Given the description of an element on the screen output the (x, y) to click on. 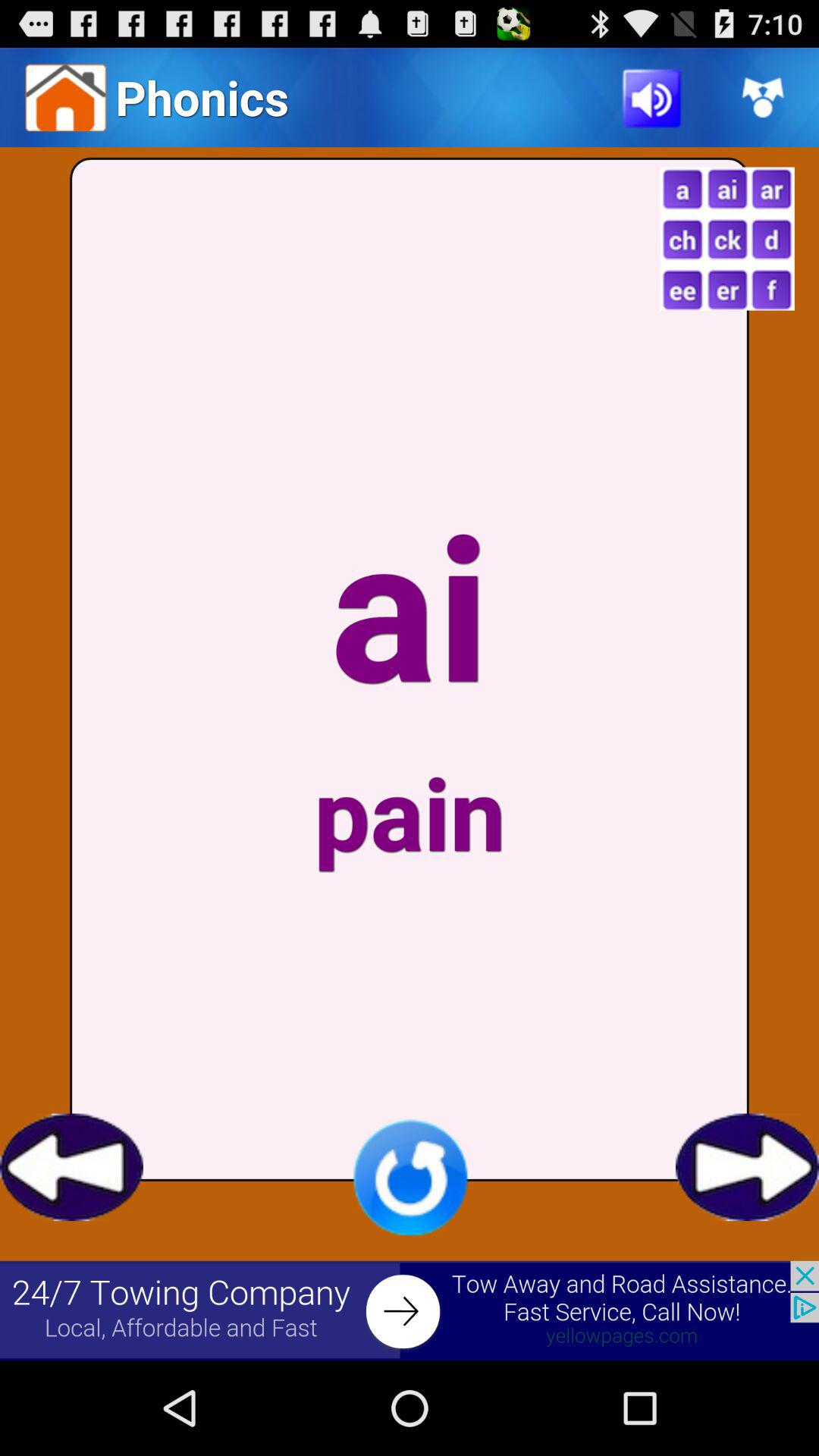
click to return (71, 1167)
